Given the description of an element on the screen output the (x, y) to click on. 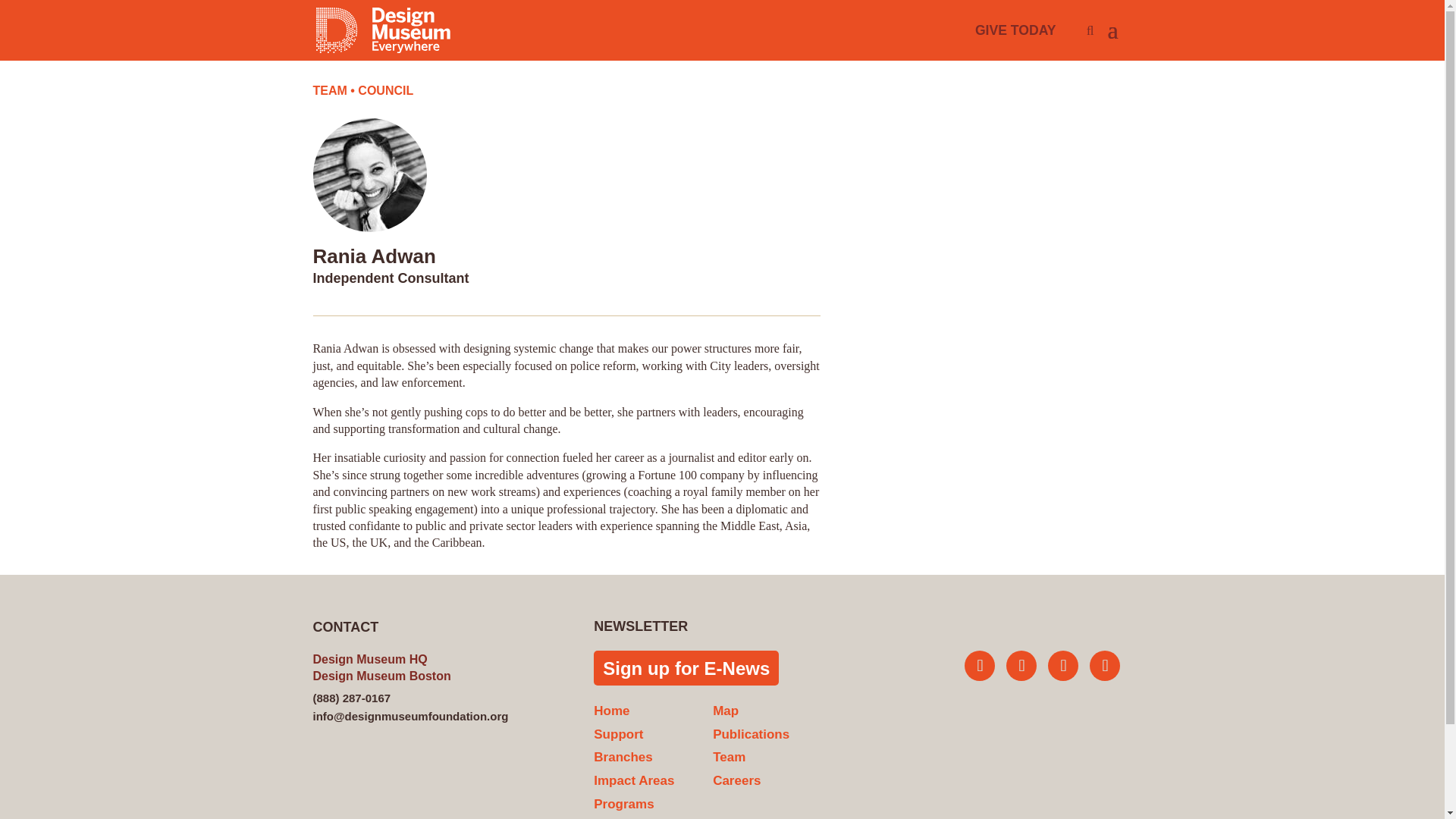
Support (618, 734)
Careers (736, 780)
Follow on Twitter (978, 665)
Sign up for E-News (686, 667)
GIVE TODAY (1016, 29)
Map (725, 710)
Follow on Instagram (1021, 665)
Home (611, 710)
Programs (623, 803)
COUNCIL (385, 90)
Follow on LinkedIn (1104, 665)
Team (729, 757)
Impact Areas (634, 780)
Branches (623, 757)
Follow on Facebook (1063, 665)
